Given the description of an element on the screen output the (x, y) to click on. 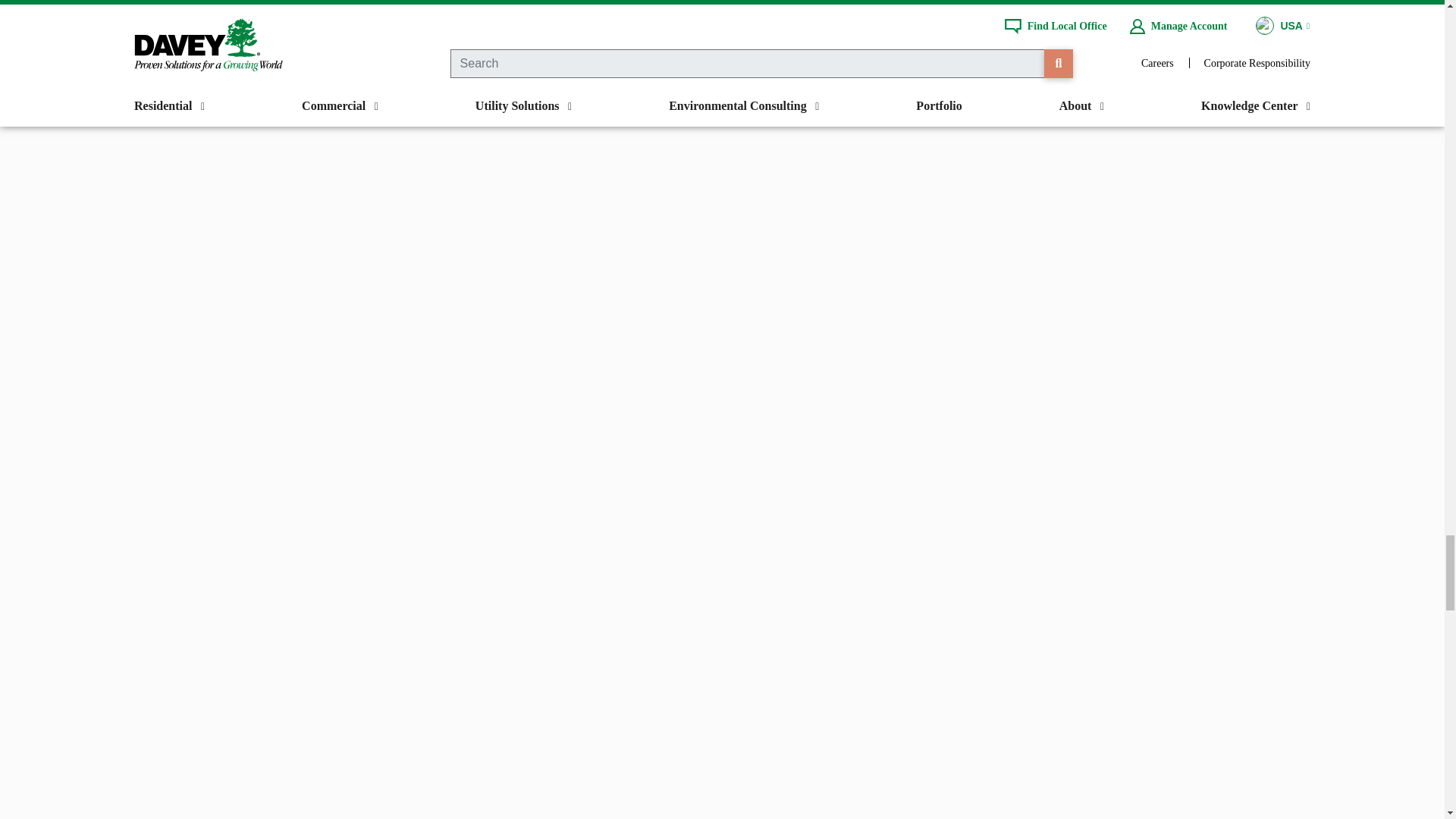
LinkedIn (877, 6)
Twitter (628, 6)
Instagram (752, 6)
Pinterest (690, 6)
Facebook (566, 6)
YouTube (815, 6)
